Given the description of an element on the screen output the (x, y) to click on. 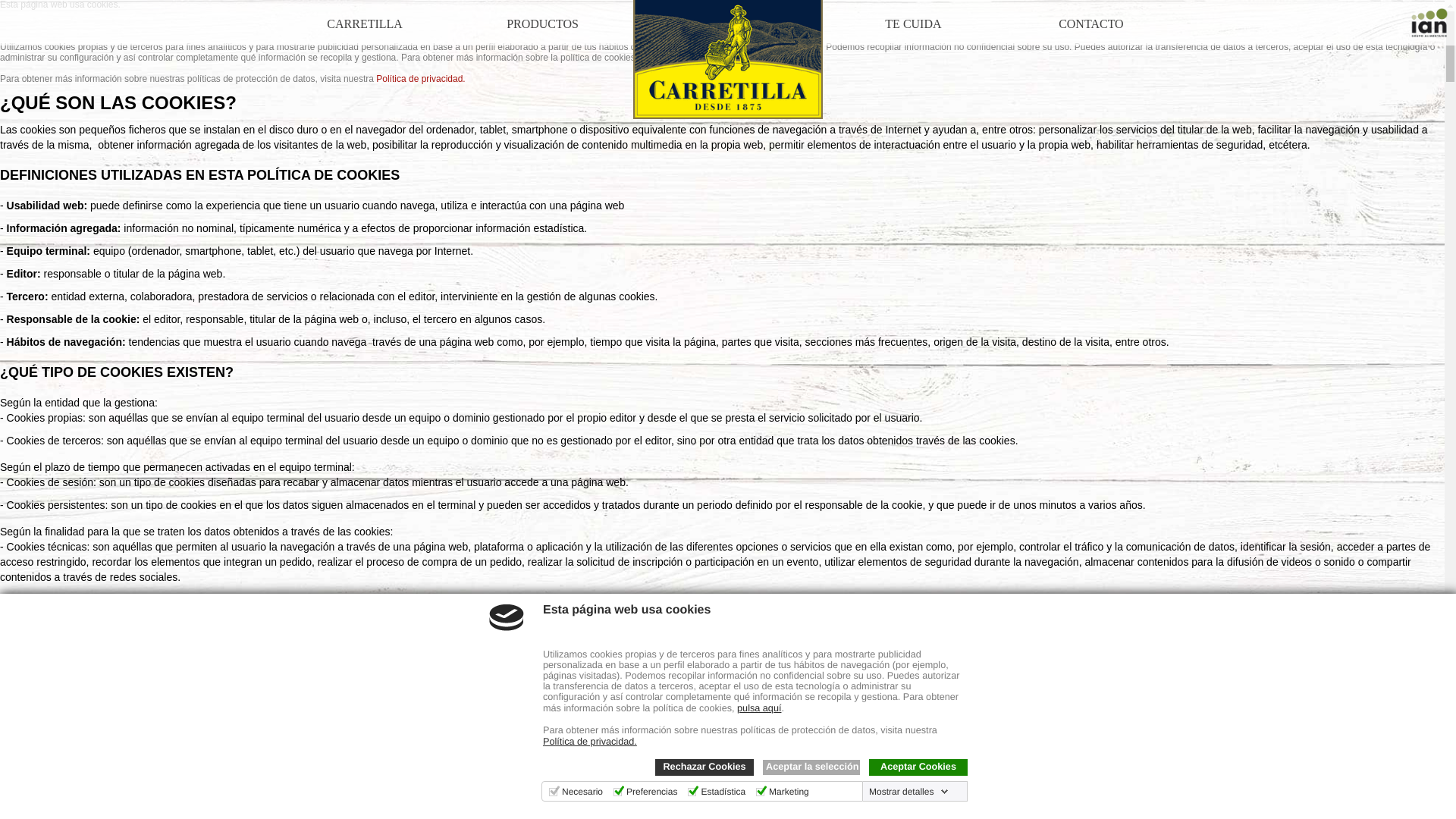
Cookiebot (298, 814)
Cookiebot (298, 814)
Cambiar tu consentimiento (72, 790)
